Given the description of an element on the screen output the (x, y) to click on. 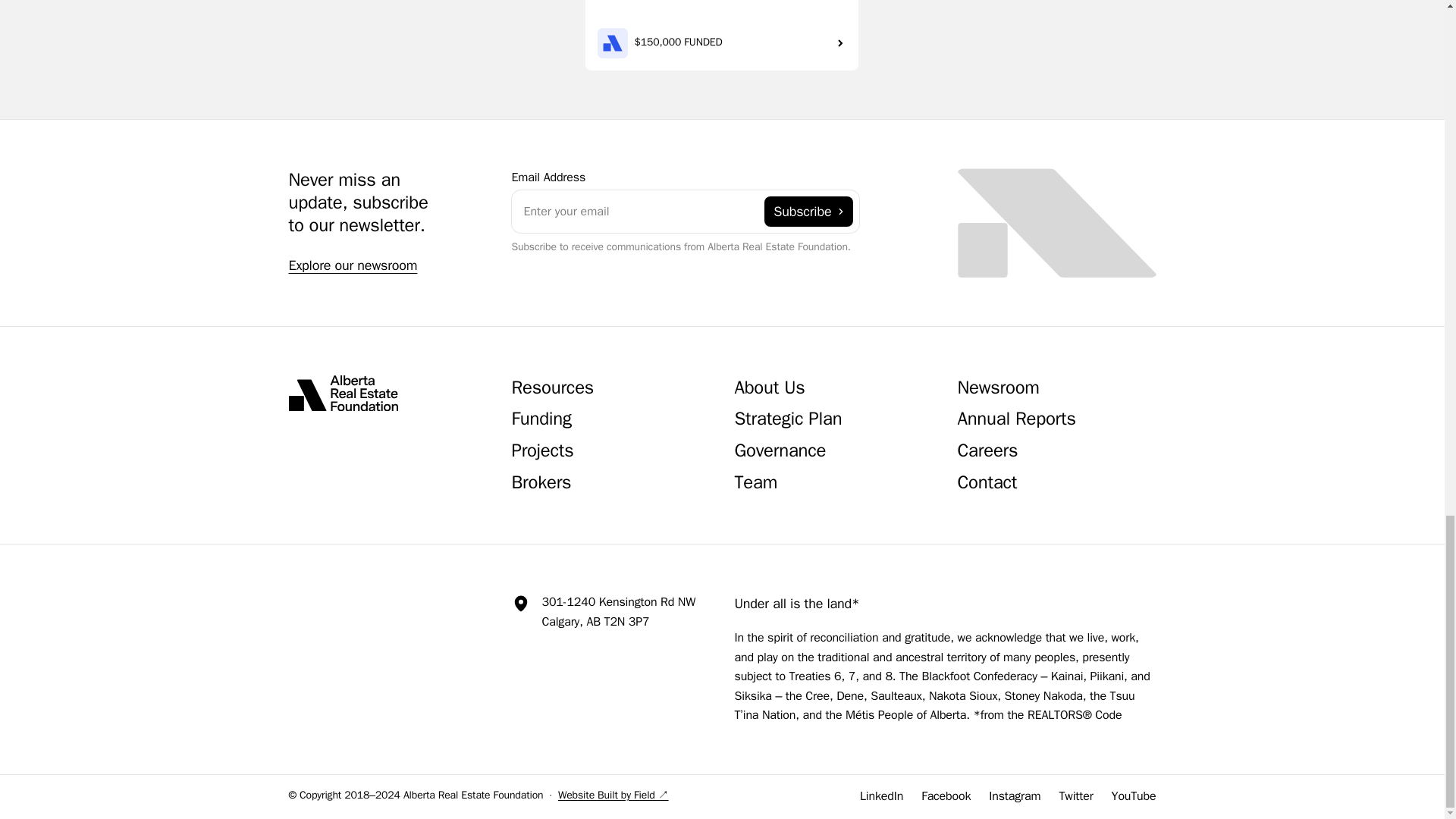
Contact (986, 484)
Facebook (946, 795)
Annual Reports (1015, 420)
Subscribe (807, 211)
Resources (552, 389)
LinkedIn (881, 795)
Newsroom (997, 389)
Brokers (540, 484)
Explore our newsroom (352, 265)
Strategic Plan (787, 420)
Team (755, 484)
Governance (779, 452)
About Us (769, 389)
Careers (986, 452)
Instagram (1014, 795)
